Given the description of an element on the screen output the (x, y) to click on. 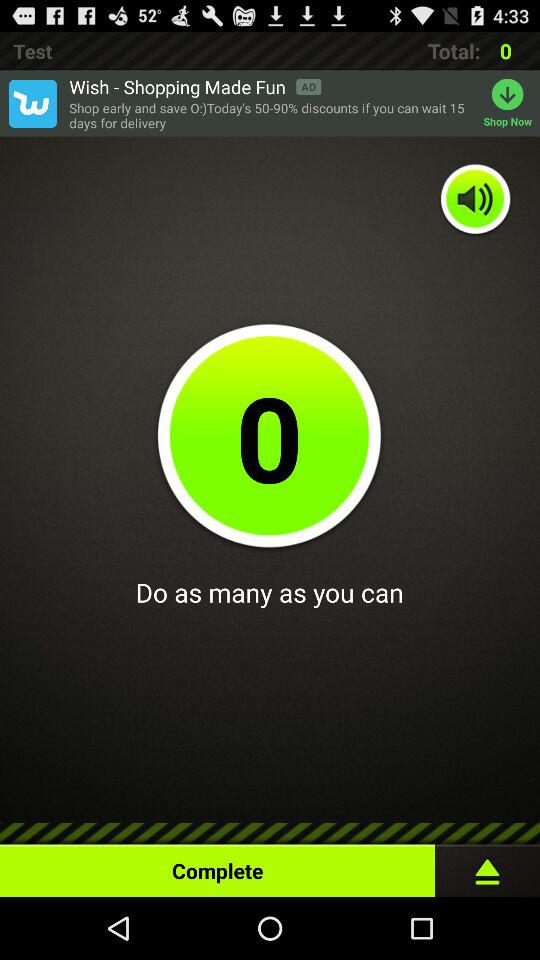
advertisement for wish app (32, 103)
